Given the description of an element on the screen output the (x, y) to click on. 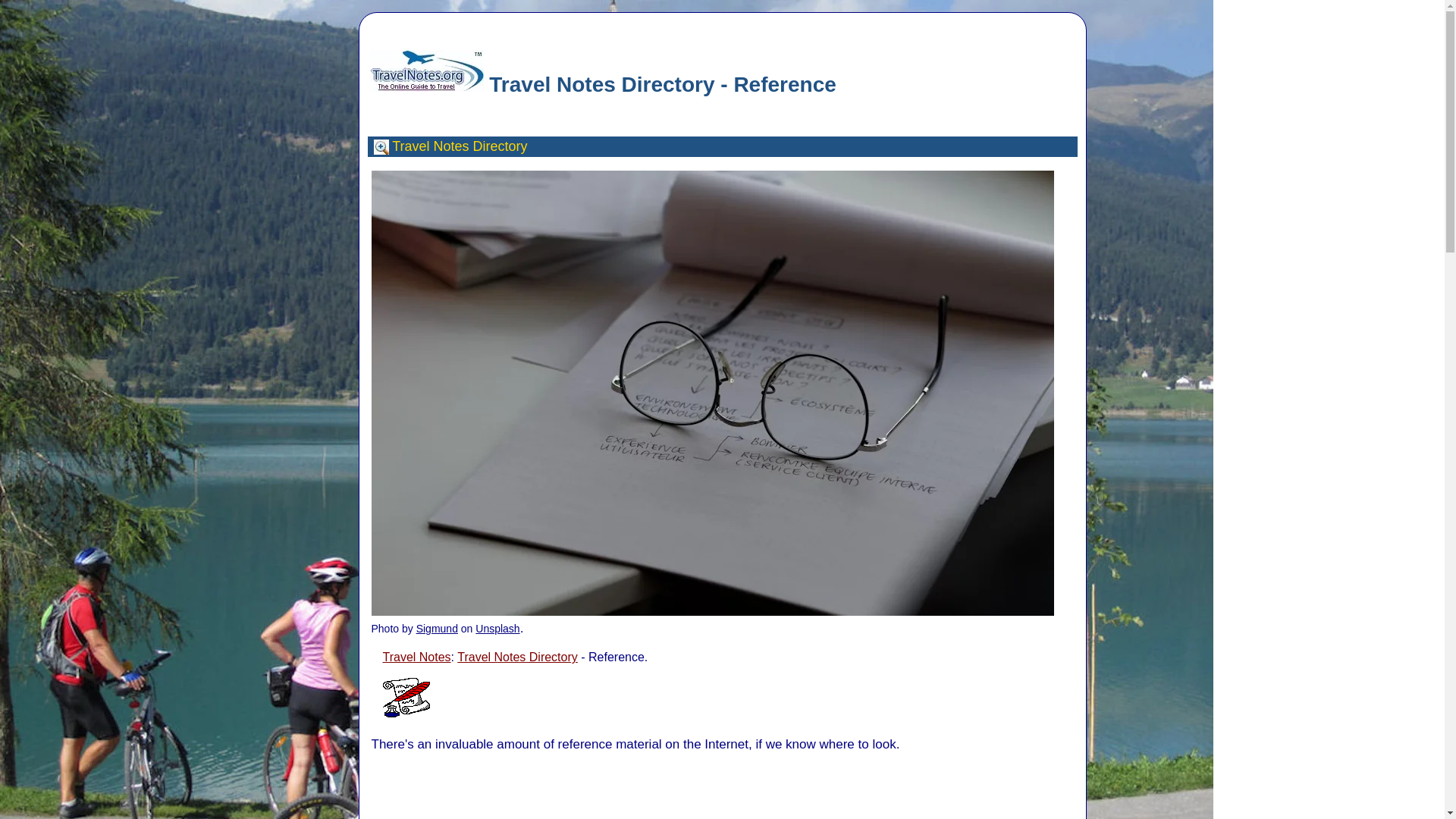
Directory (500, 145)
Travel Notes (415, 656)
Travel Search (380, 146)
Sigmund (437, 628)
Unsplash (497, 628)
Travel Notes (429, 145)
Travel Notes Directory (517, 656)
